Given the description of an element on the screen output the (x, y) to click on. 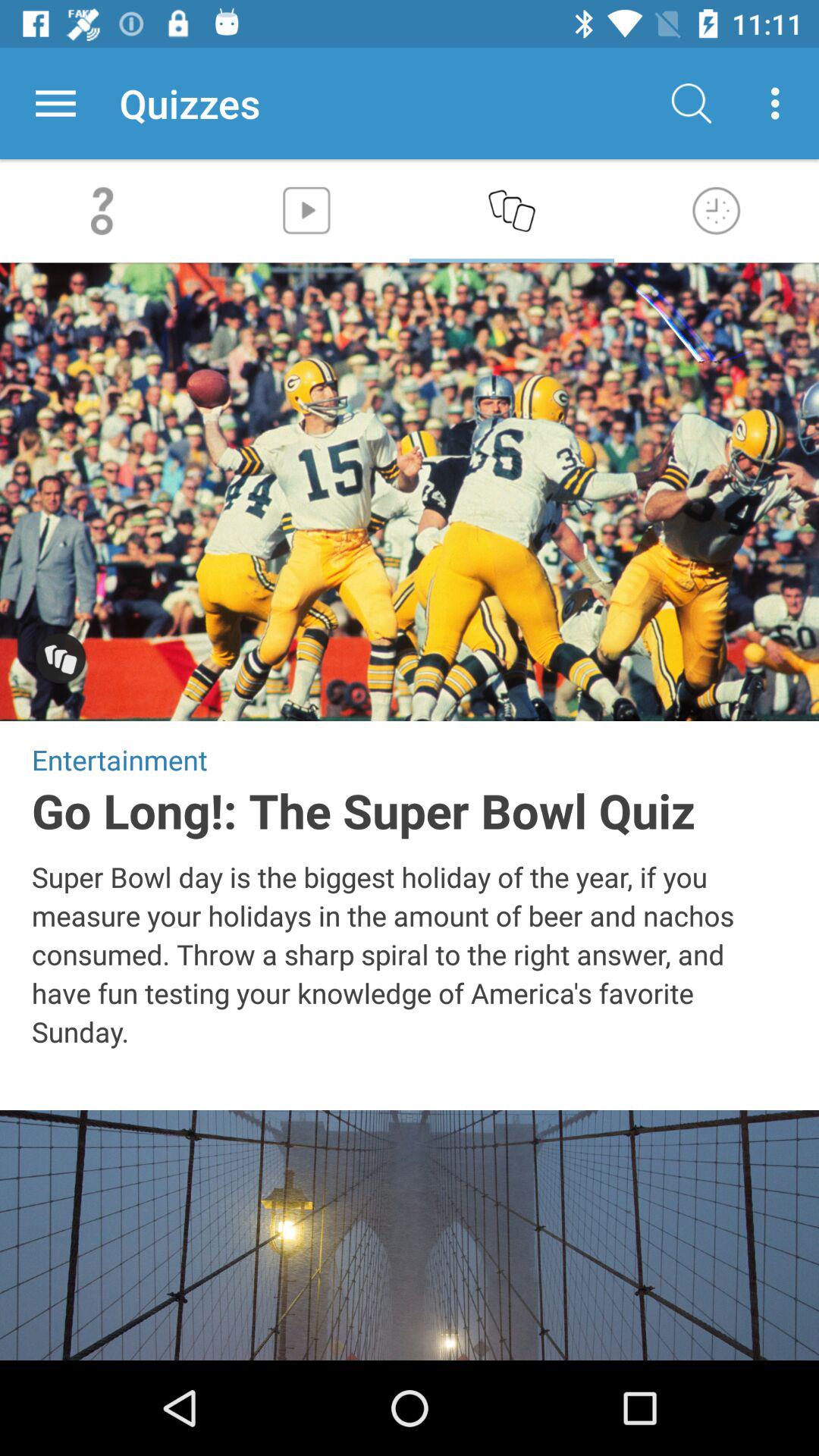
launch the app next to quizzes (55, 103)
